Given the description of an element on the screen output the (x, y) to click on. 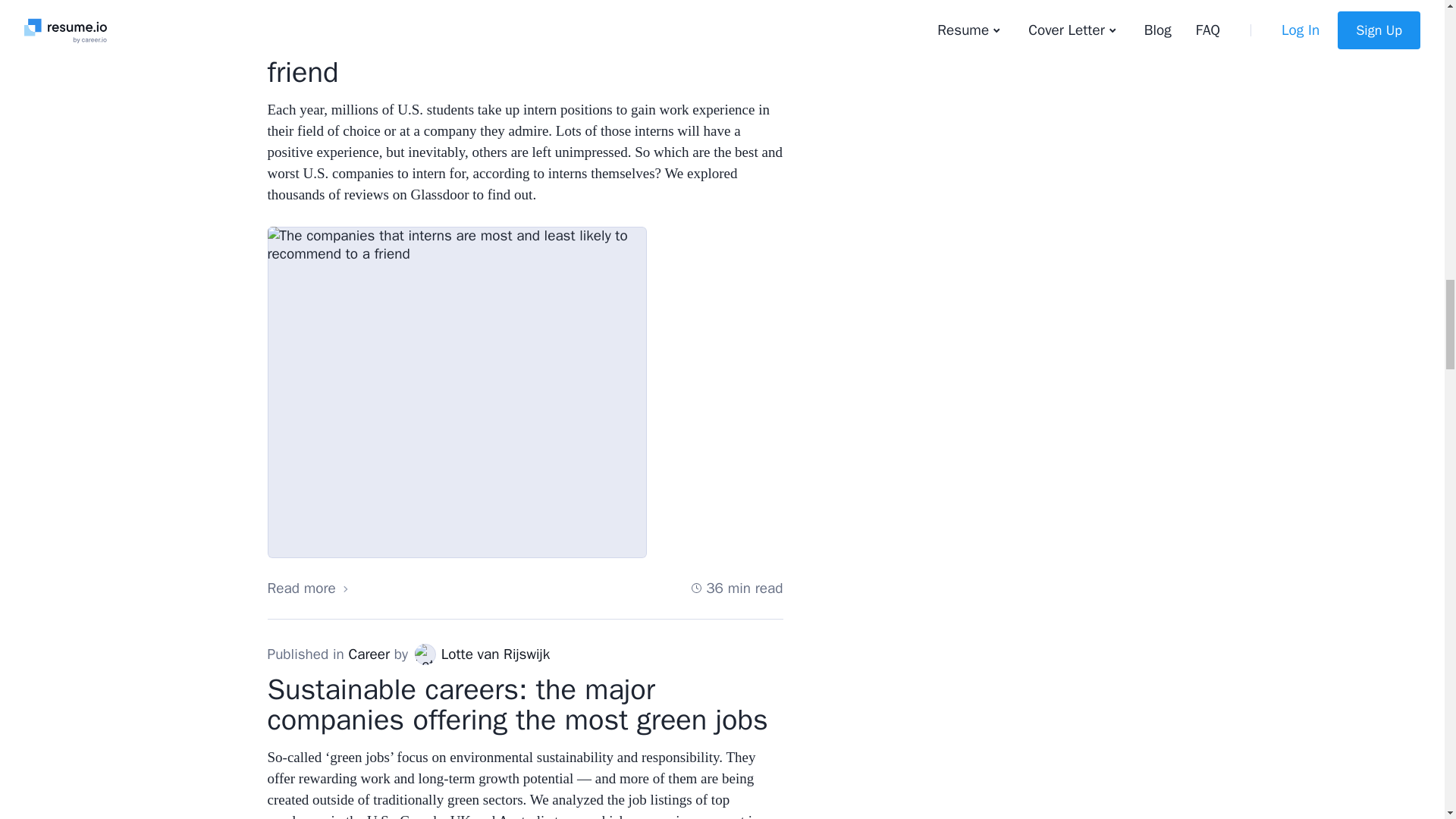
Lotte van Rijswijk (424, 654)
